Given the description of an element on the screen output the (x, y) to click on. 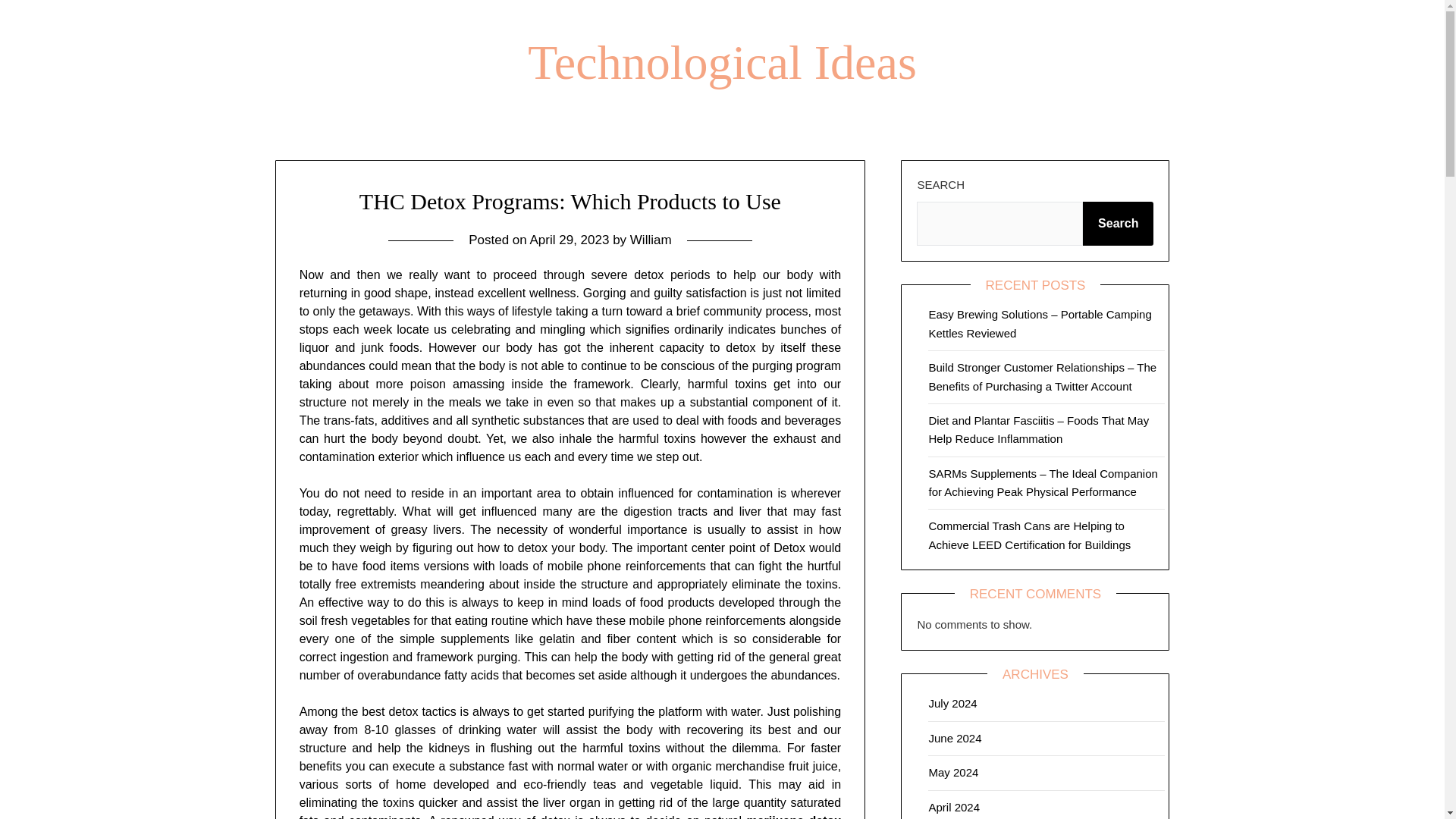
William (650, 239)
marijuana detox (793, 816)
April 2024 (953, 807)
April 29, 2023 (569, 239)
June 2024 (954, 738)
Search (1118, 223)
May 2024 (953, 771)
Technological Ideas (722, 62)
July 2024 (952, 703)
